Given the description of an element on the screen output the (x, y) to click on. 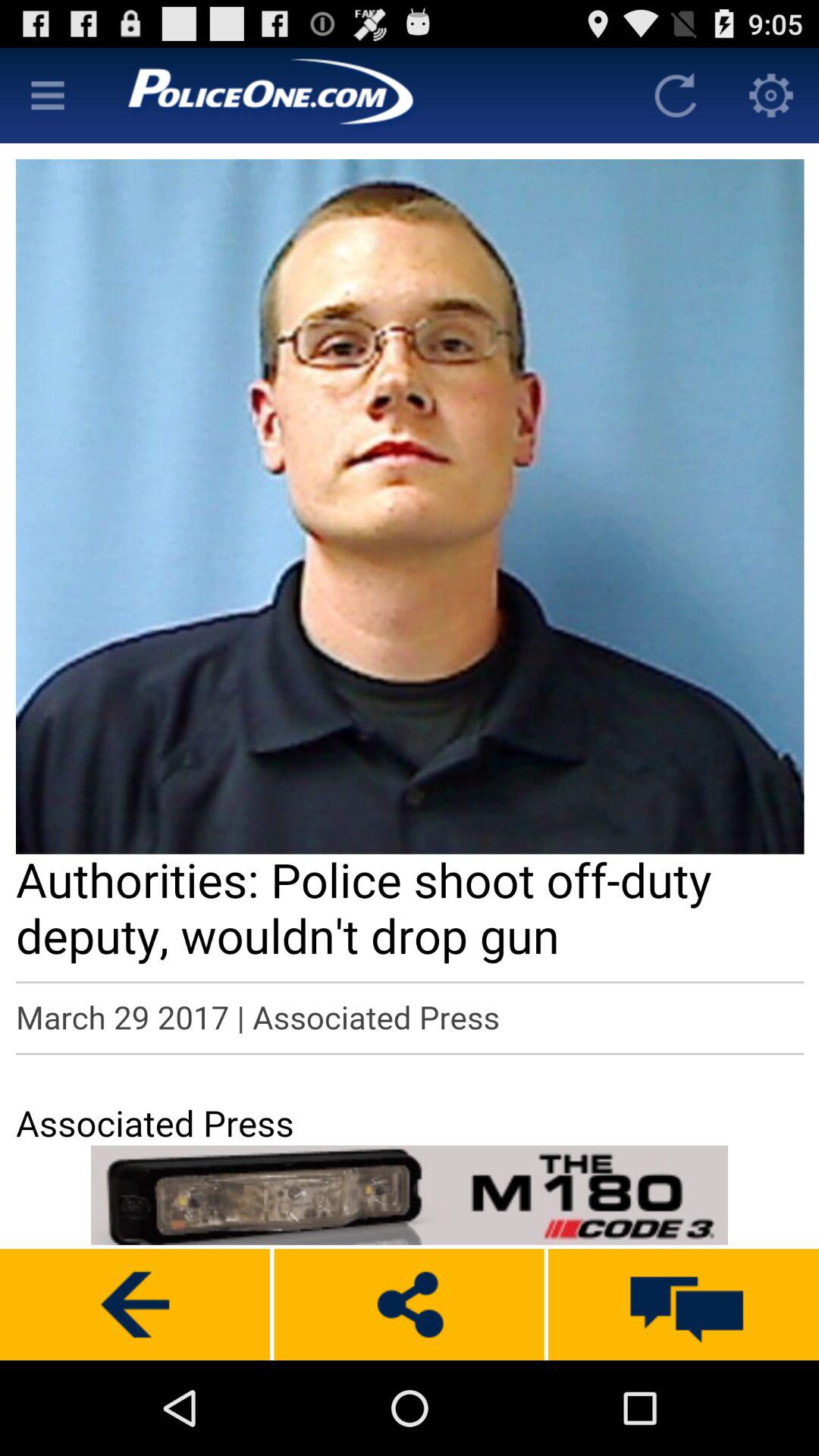
massage box (683, 1304)
